Given the description of an element on the screen output the (x, y) to click on. 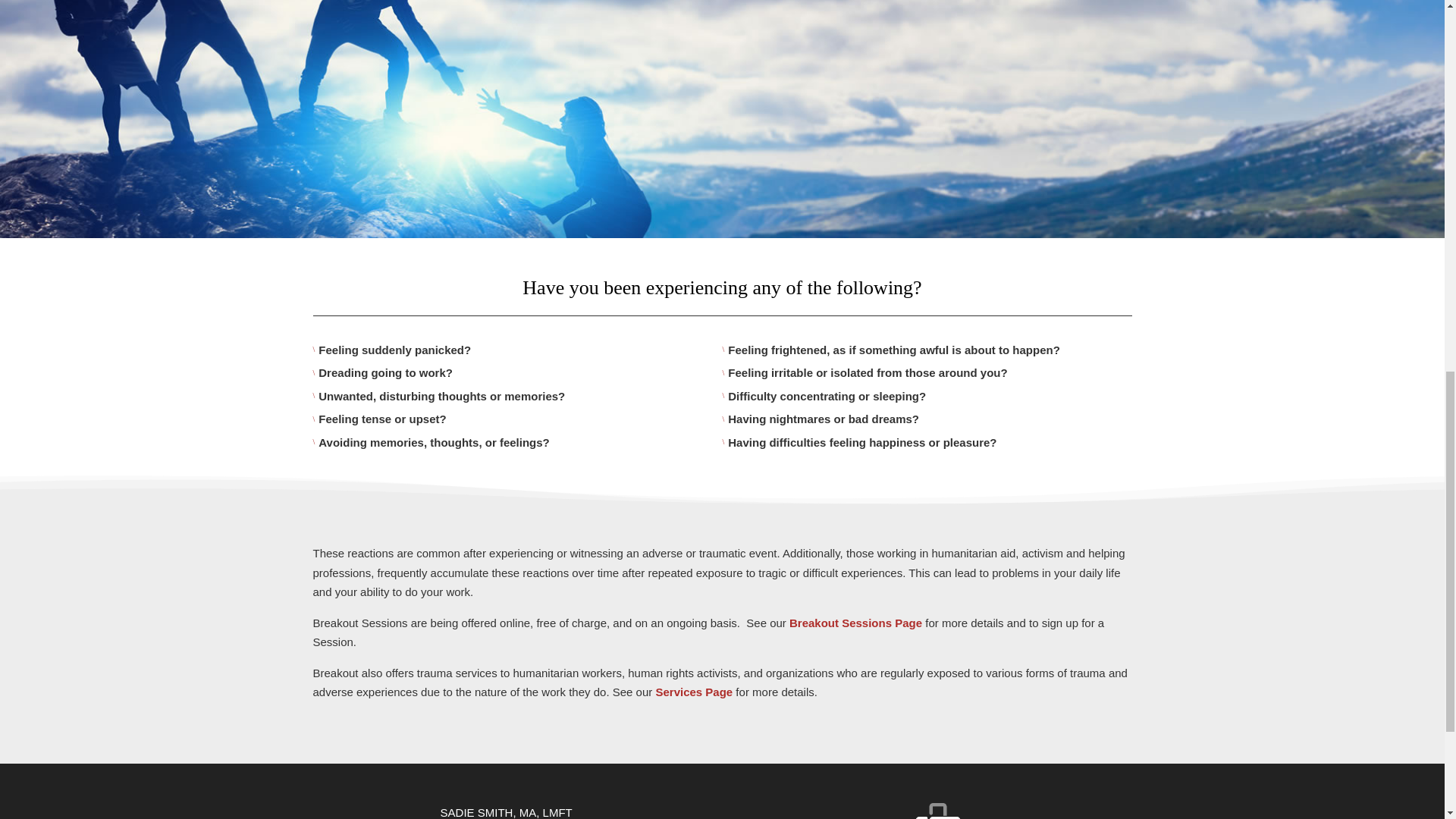
Services Page (693, 691)
Breakout-Stacked-W-Logo (937, 811)
Breakout Sessions Page (855, 622)
